Given the description of an element on the screen output the (x, y) to click on. 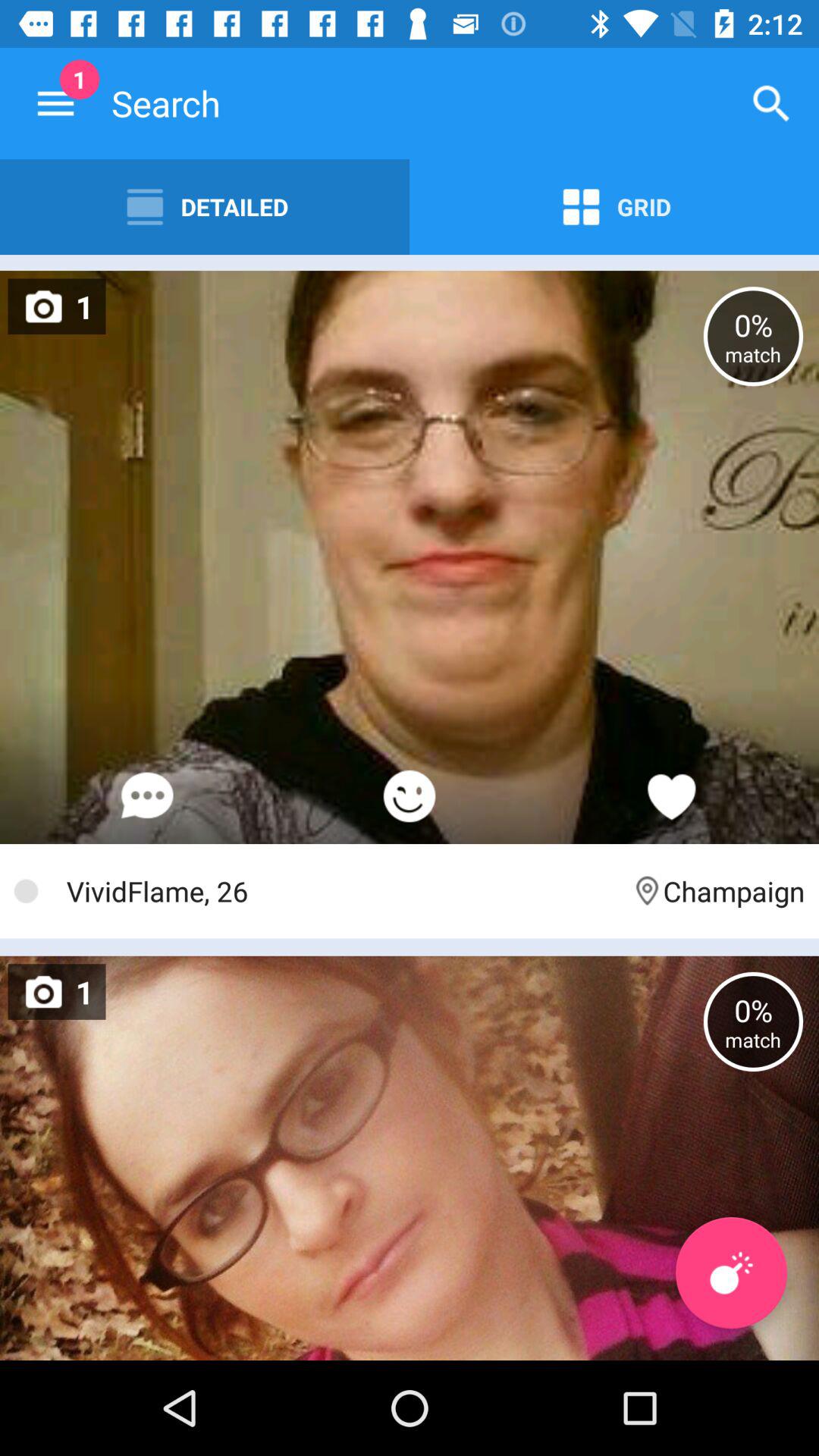
jump to champaign item (717, 891)
